Given the description of an element on the screen output the (x, y) to click on. 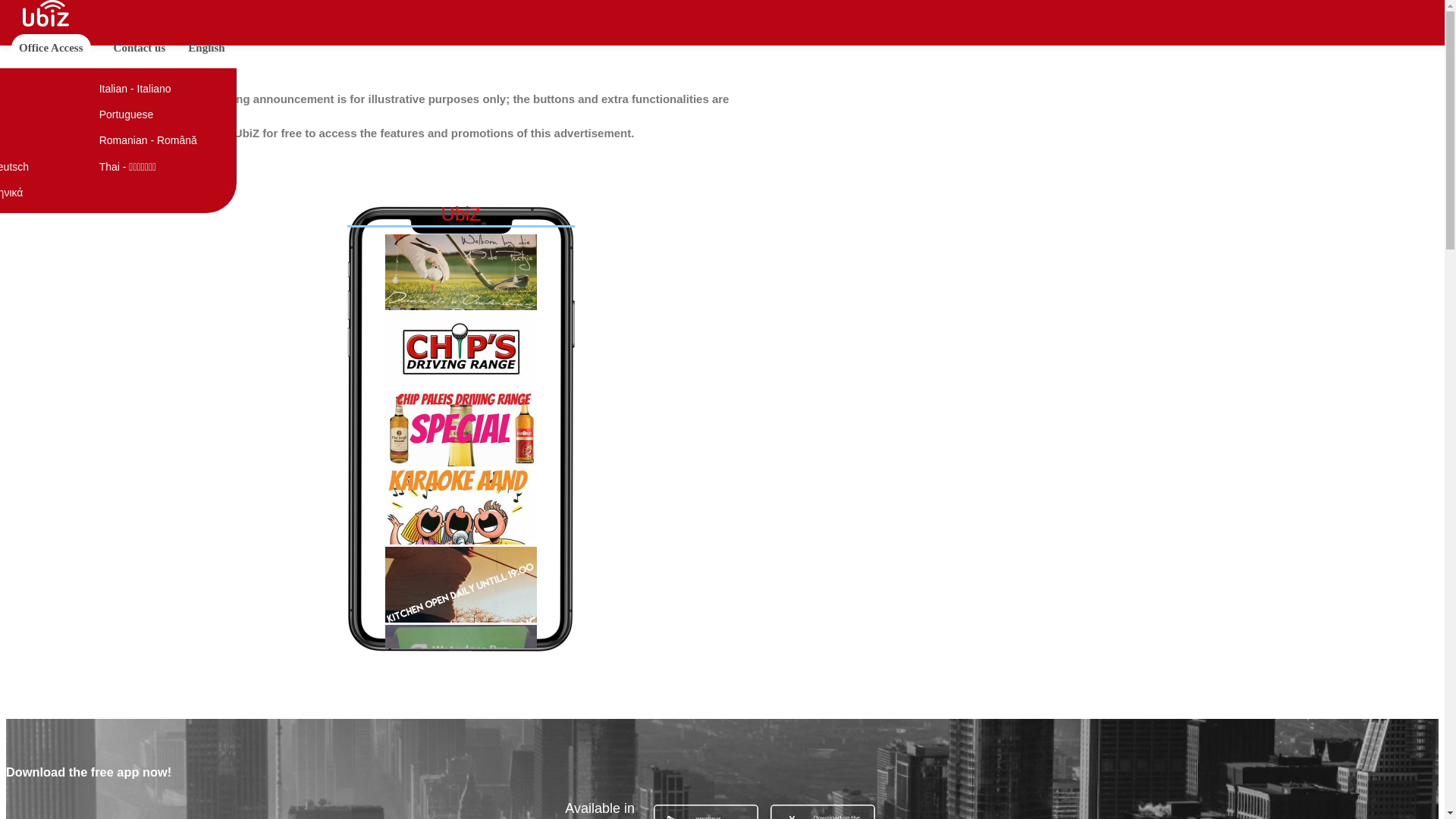
English (40, 88)
Contact us (139, 47)
Italian - Italiano (162, 88)
Portuguese (162, 114)
German - Deutsch (40, 166)
Portuguese (162, 114)
Italian - Italiano (162, 88)
German - Deutsch (40, 166)
Office Access (50, 47)
English (205, 47)
